Given the description of an element on the screen output the (x, y) to click on. 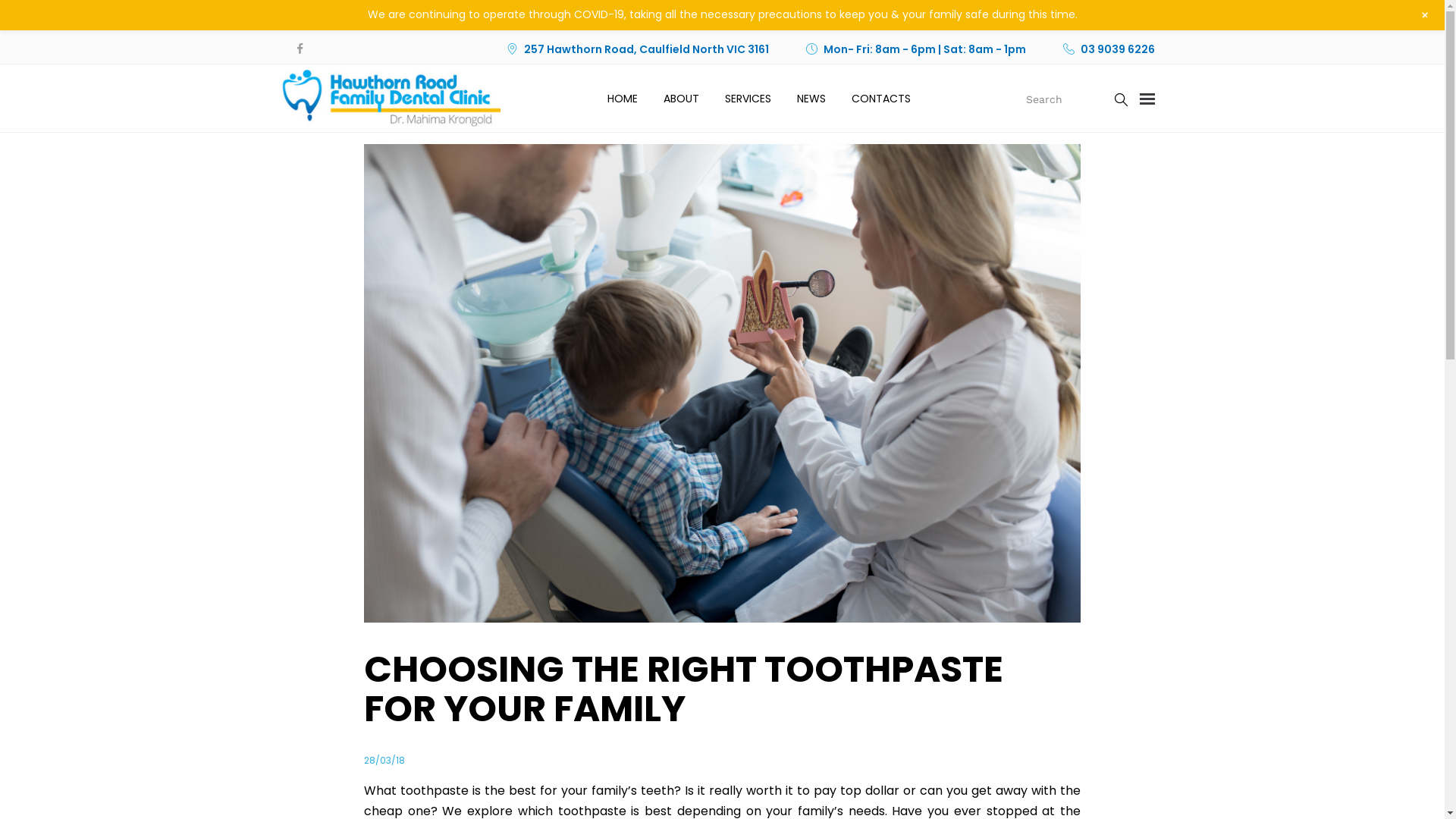
NEWS Element type: text (811, 98)
ABOUT Element type: text (681, 98)
HOME Element type: text (622, 98)
+ Element type: text (1424, 14)
CONTACTS Element type: text (880, 98)
SERVICES Element type: text (747, 98)
